Given the description of an element on the screen output the (x, y) to click on. 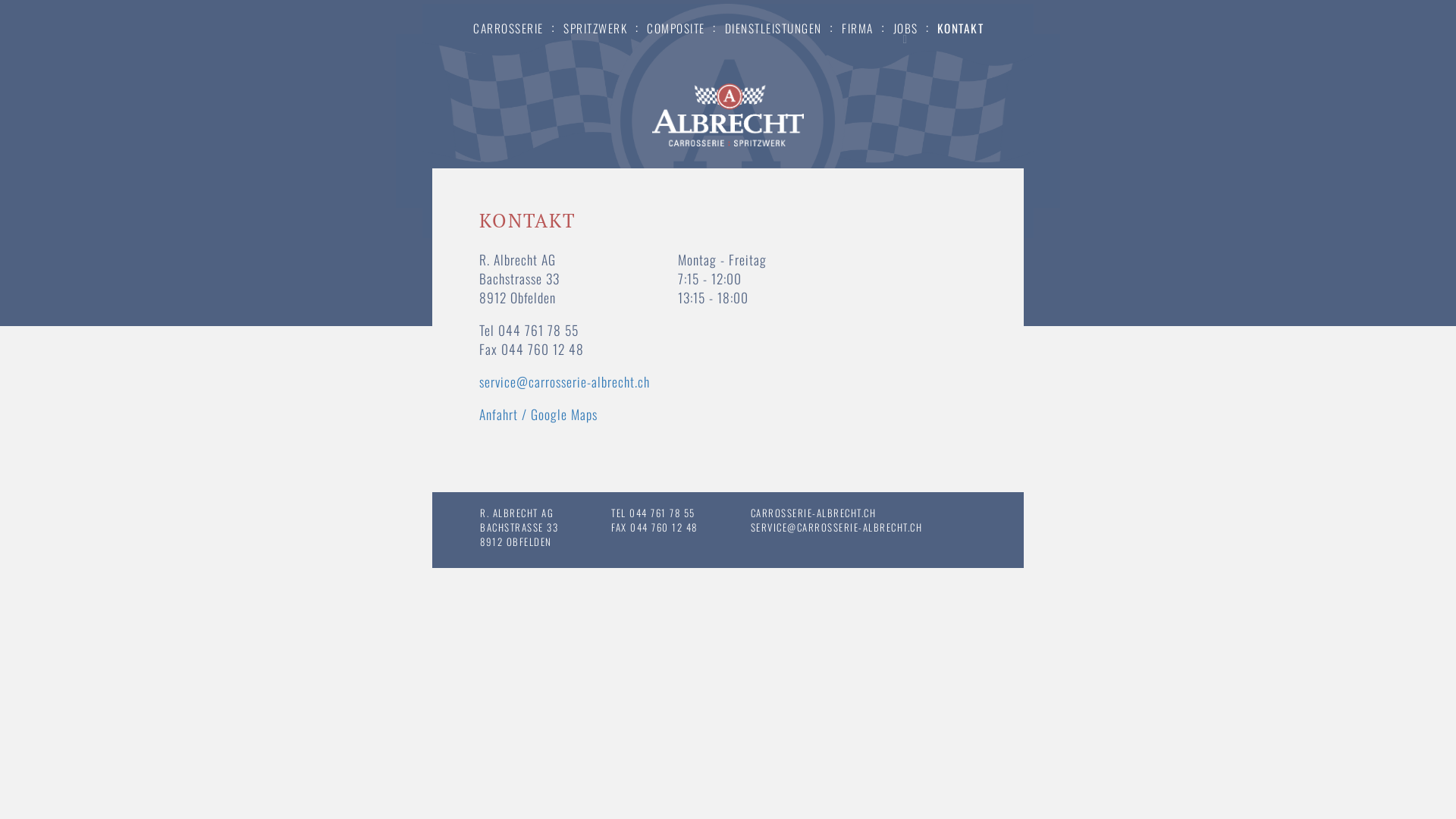
SERVICE@CARROSSERIE-ALBRECHT.CH Element type: text (836, 526)
JOBS Element type: text (904, 26)
SPRITZWERK Element type: text (595, 26)
service@carrosserie-albrecht.ch Element type: text (564, 381)
CARROSSERIE-ALBRECHT.CH Element type: text (813, 512)
FIRMA Element type: text (857, 26)
Anfahrt / Google Maps Element type: text (538, 413)
COMPOSITE Element type: text (675, 26)
CARROSSERIE Element type: text (508, 26)
DIENSTLEISTUNGEN Element type: text (772, 26)
KONTAKT Element type: text (960, 26)
